Given the description of an element on the screen output the (x, y) to click on. 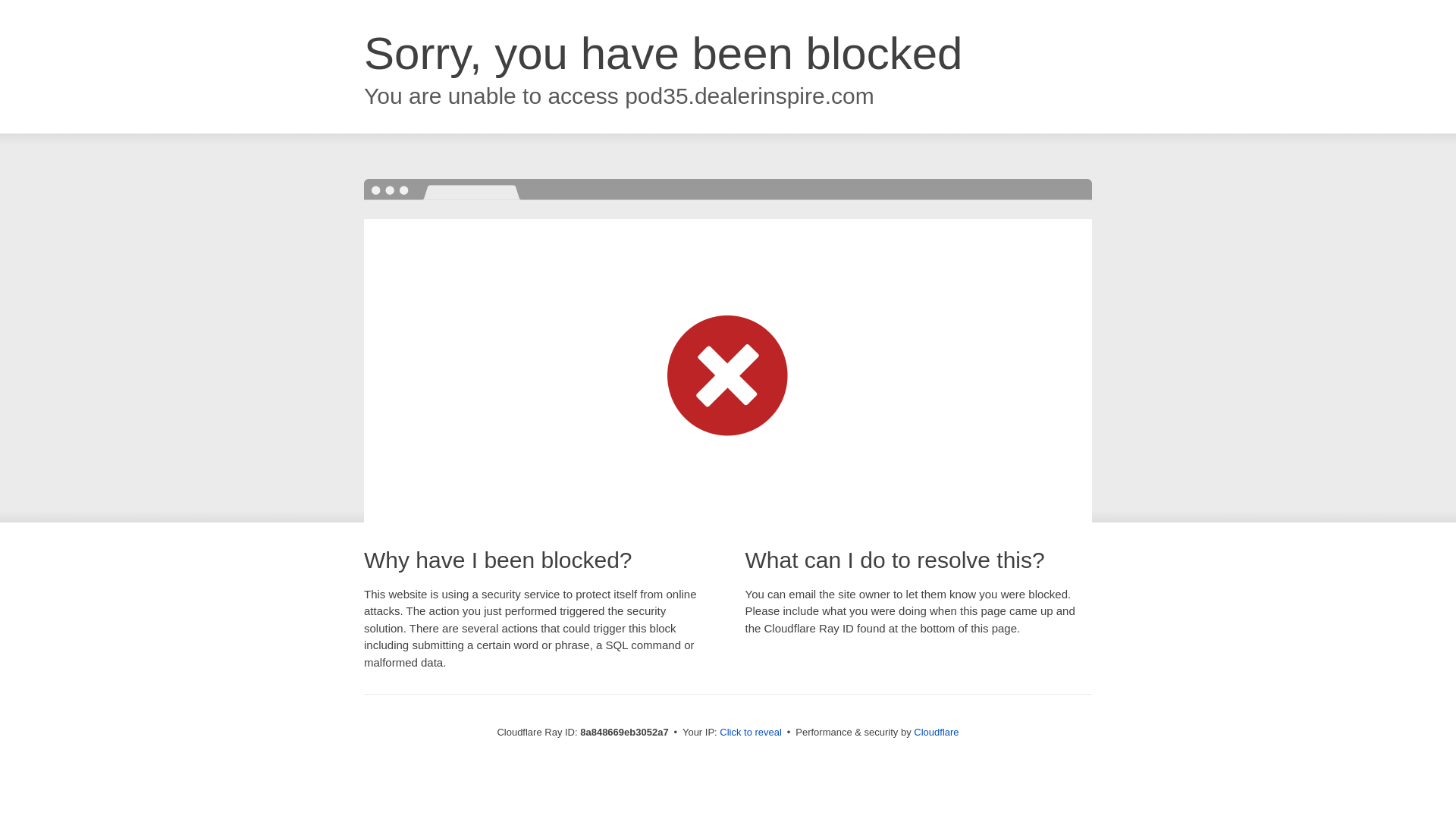
Click to reveal (750, 732)
Cloudflare (936, 731)
